Given the description of an element on the screen output the (x, y) to click on. 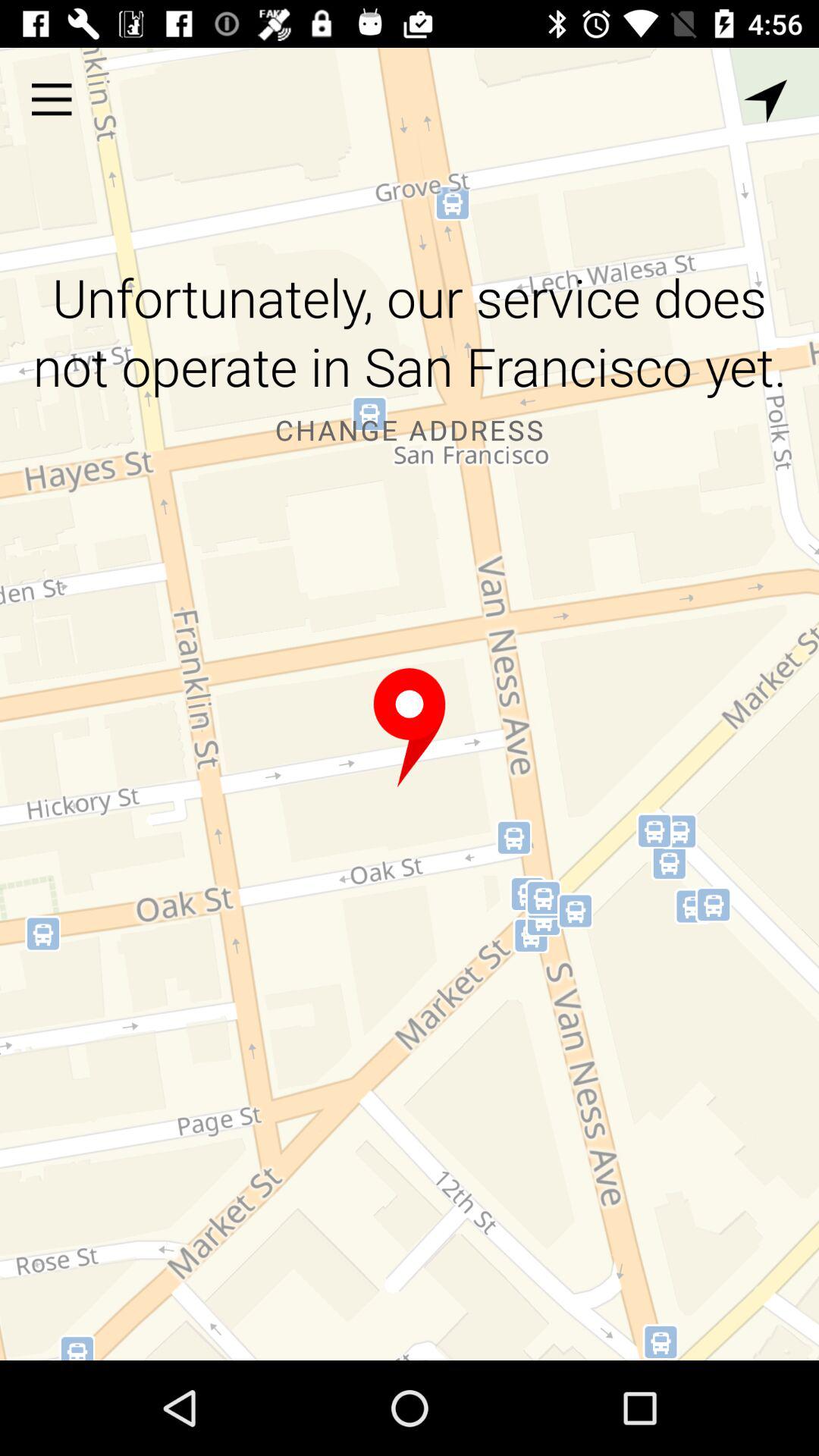
go to menu (51, 99)
